Given the description of an element on the screen output the (x, y) to click on. 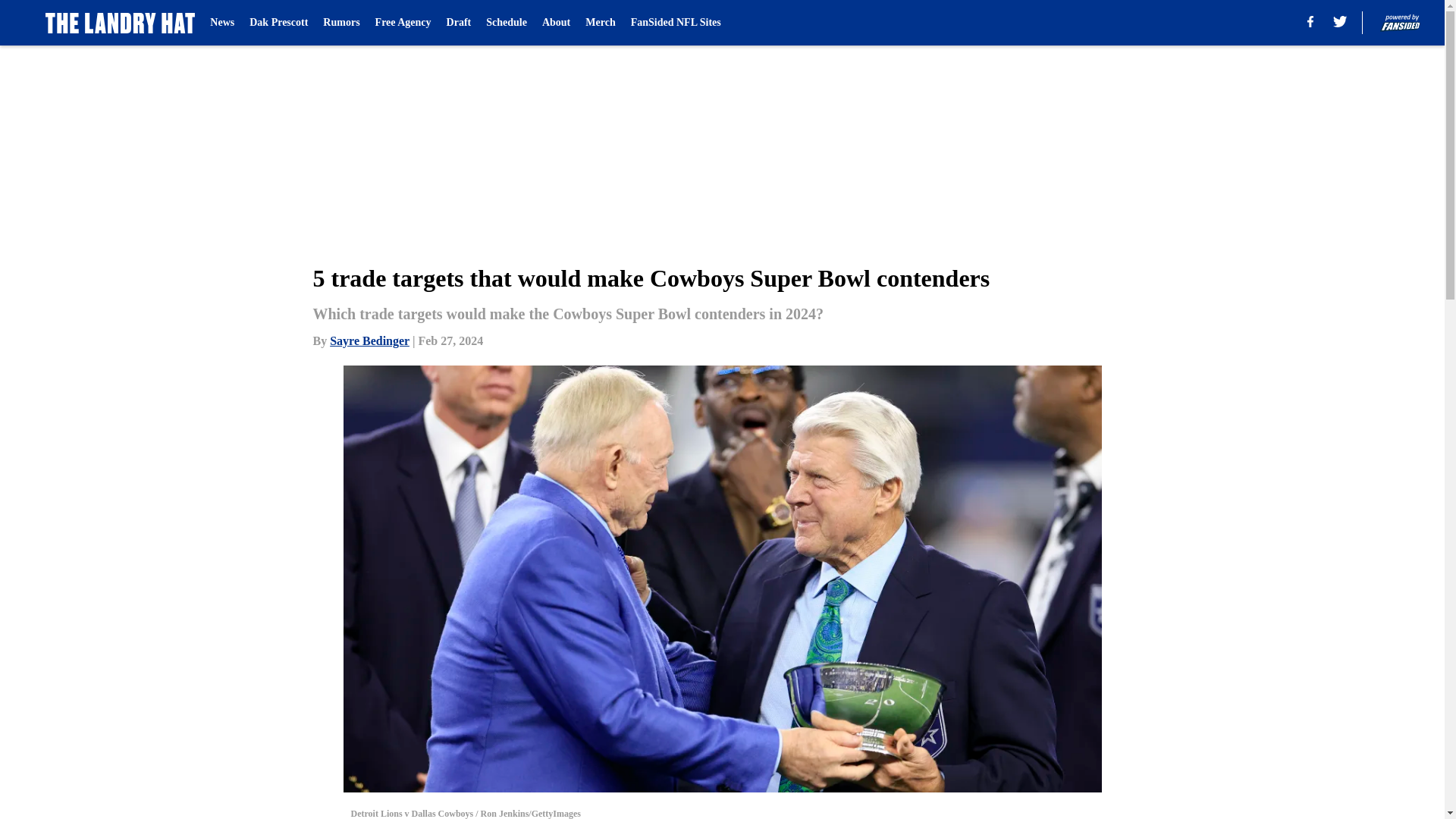
News (221, 22)
FanSided NFL Sites (675, 22)
Schedule (506, 22)
Rumors (341, 22)
Free Agency (402, 22)
Dak Prescott (277, 22)
Draft (458, 22)
About (555, 22)
Merch (599, 22)
